Given the description of an element on the screen output the (x, y) to click on. 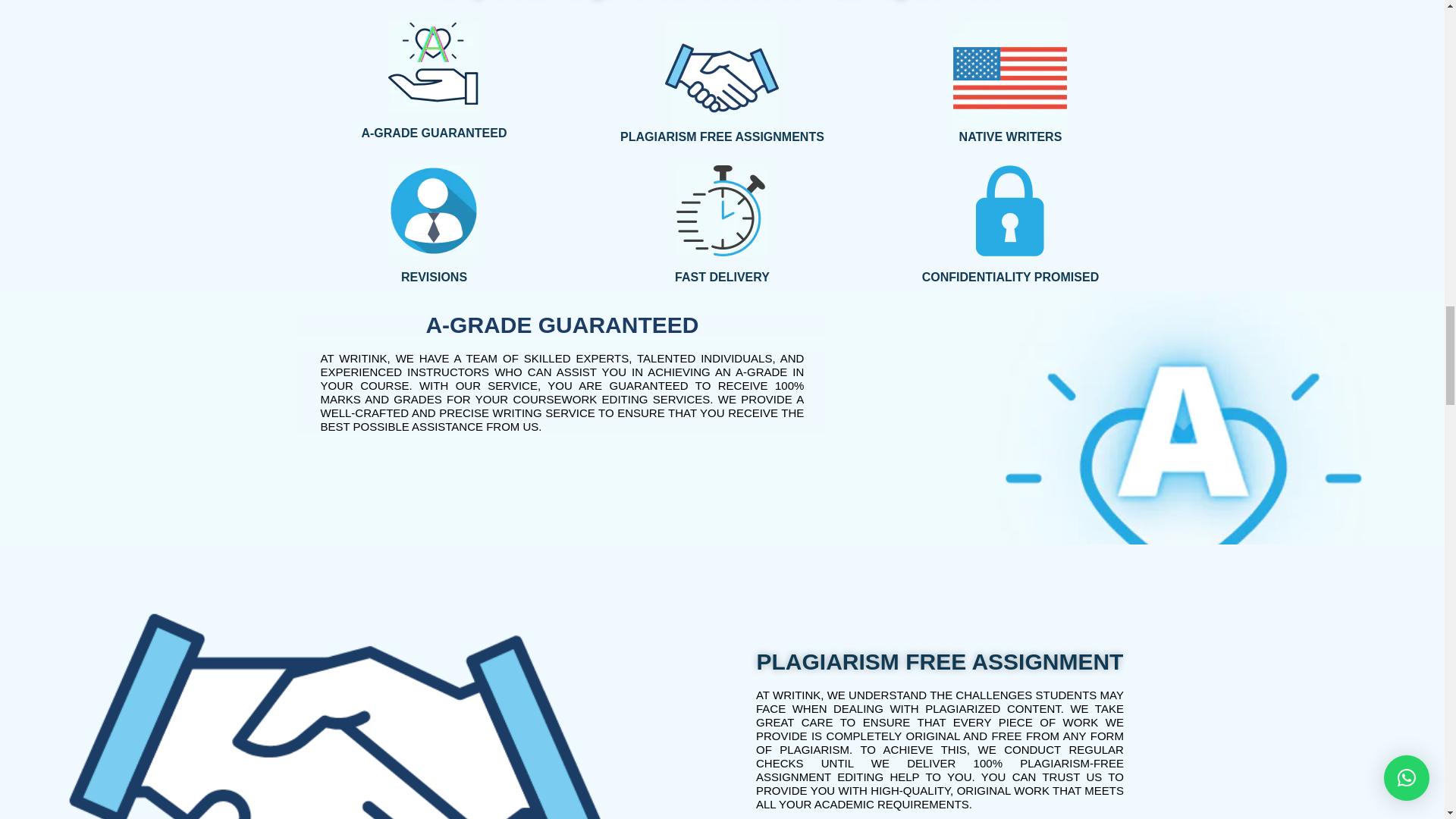
Custom Writing Service (722, 210)
Custom Writing Service (1009, 210)
1 (433, 66)
Custom Writing Service (433, 210)
